Given the description of an element on the screen output the (x, y) to click on. 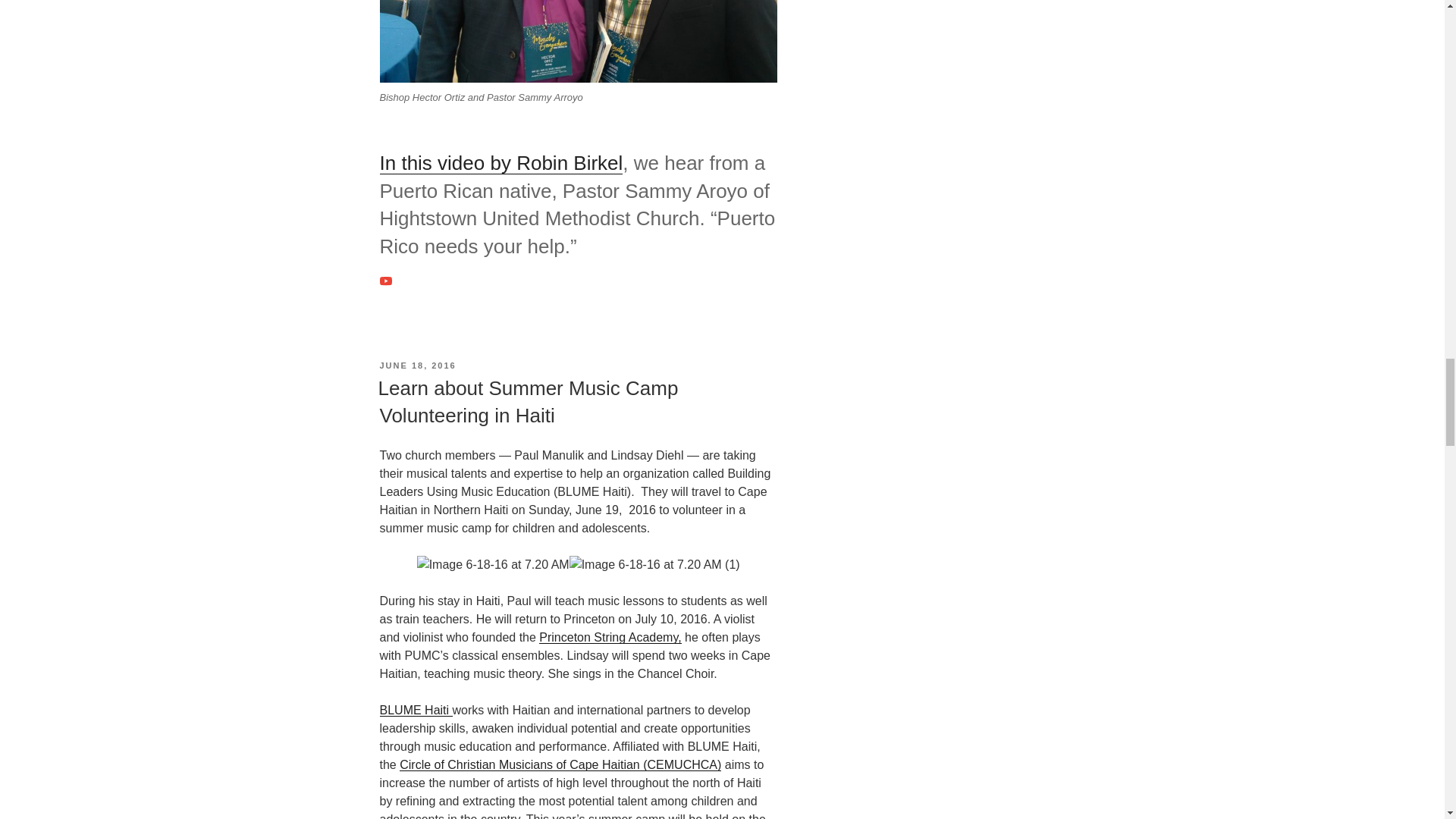
JUNE 18, 2016 (416, 365)
BLUME Haiti (414, 709)
Princeton String Academy, (609, 636)
Learn about Summer Music Camp Volunteering in Haiti (527, 401)
In this video by Robin Birkel (500, 162)
